Given the description of an element on the screen output the (x, y) to click on. 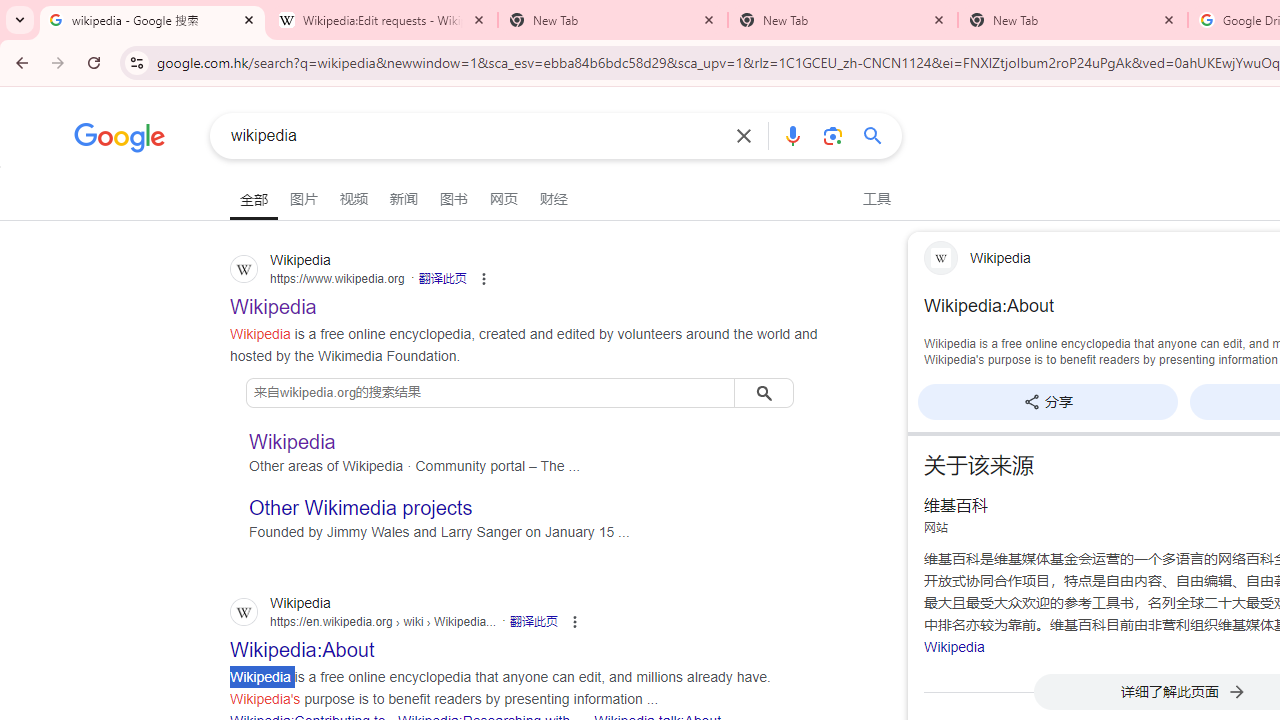
Wikipedia:Edit requests - Wikipedia (382, 20)
New Tab (1072, 20)
Wikipedia (954, 646)
 Wikipedia Wikipedia https://www.wikipedia.org (273, 300)
